Given the description of an element on the screen output the (x, y) to click on. 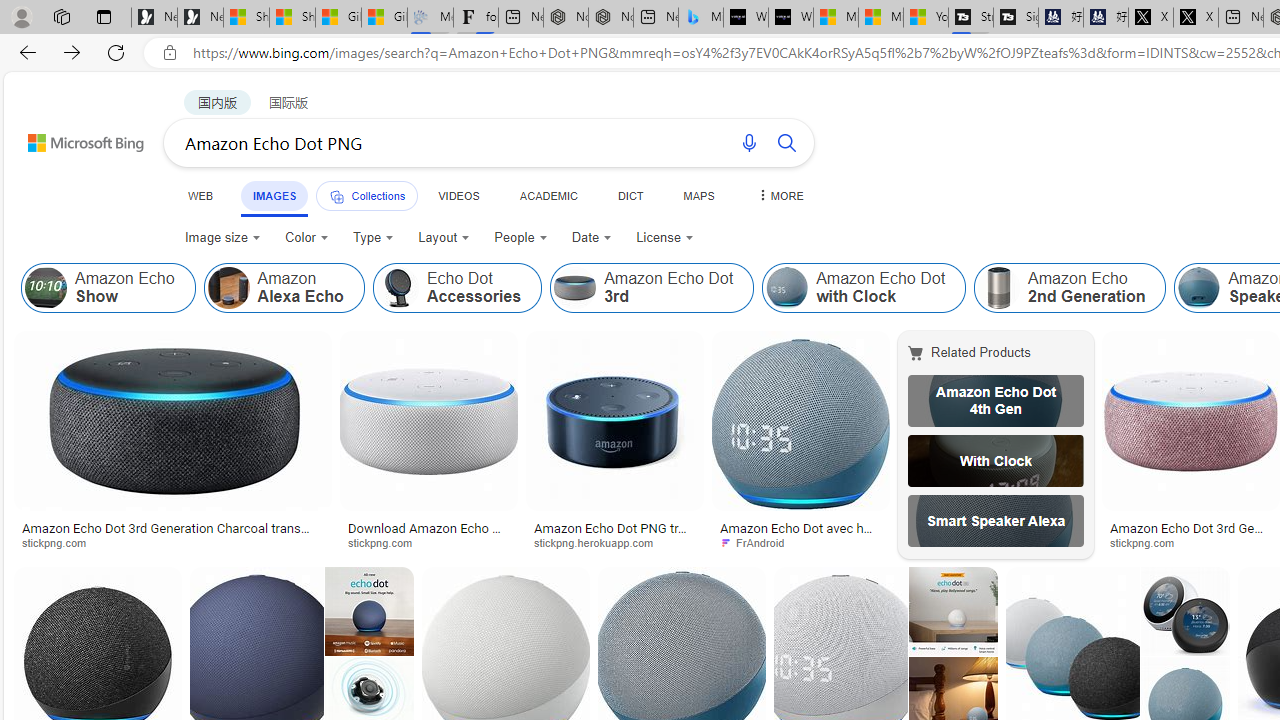
Amazon Alexa Echo (283, 287)
IMAGES (274, 196)
Layout (443, 237)
MORE (779, 195)
Microsoft Start Sports (835, 17)
What's the best AI voice generator? - voice.ai (790, 17)
Class: b_pri_nav_svg (336, 196)
People (520, 237)
Date (591, 237)
Gilma and Hector both pose tropical trouble for Hawaii (384, 17)
Class: item col (1070, 287)
VIDEOS (458, 195)
Nordace - #1 Japanese Best-Seller - Siena Smart Backpack (610, 17)
